Given the description of an element on the screen output the (x, y) to click on. 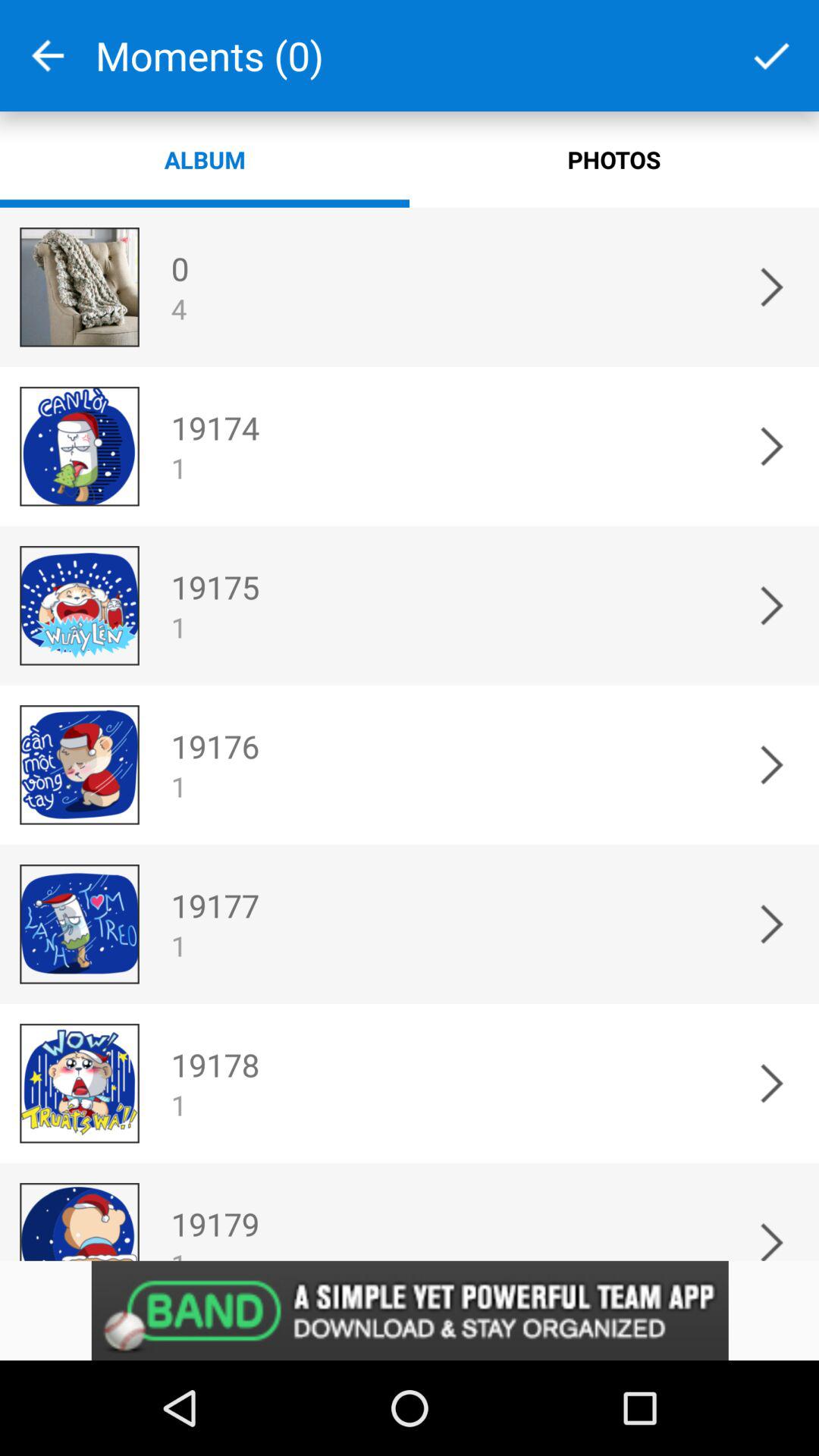
launch advertisement (409, 1310)
